Given the description of an element on the screen output the (x, y) to click on. 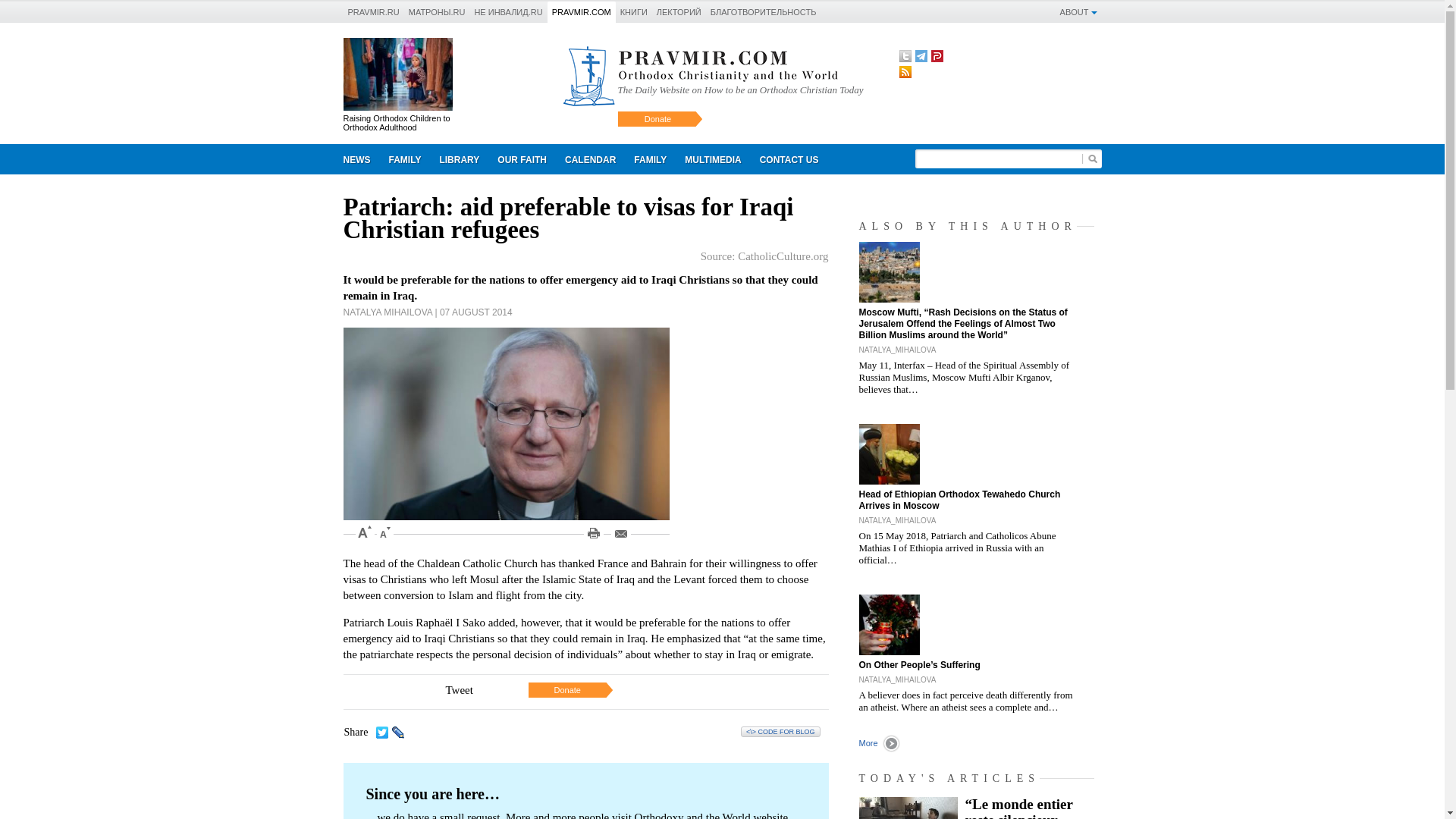
Telegram (920, 55)
NEWS (355, 161)
The Daily Website on How to be an Orthodox Christian Today (740, 89)
Twitter (905, 55)
FAMILY (403, 161)
RSS (905, 71)
Telegram (920, 55)
PRAVMIR.RU (372, 11)
Twitter (905, 55)
Raising Orthodox Children to Orthodox Adulthood (395, 122)
Donate (658, 118)
PRAVMIR.COM (581, 11)
Parler (937, 55)
LIBRARY (458, 161)
RSS (905, 71)
